Given the description of an element on the screen output the (x, y) to click on. 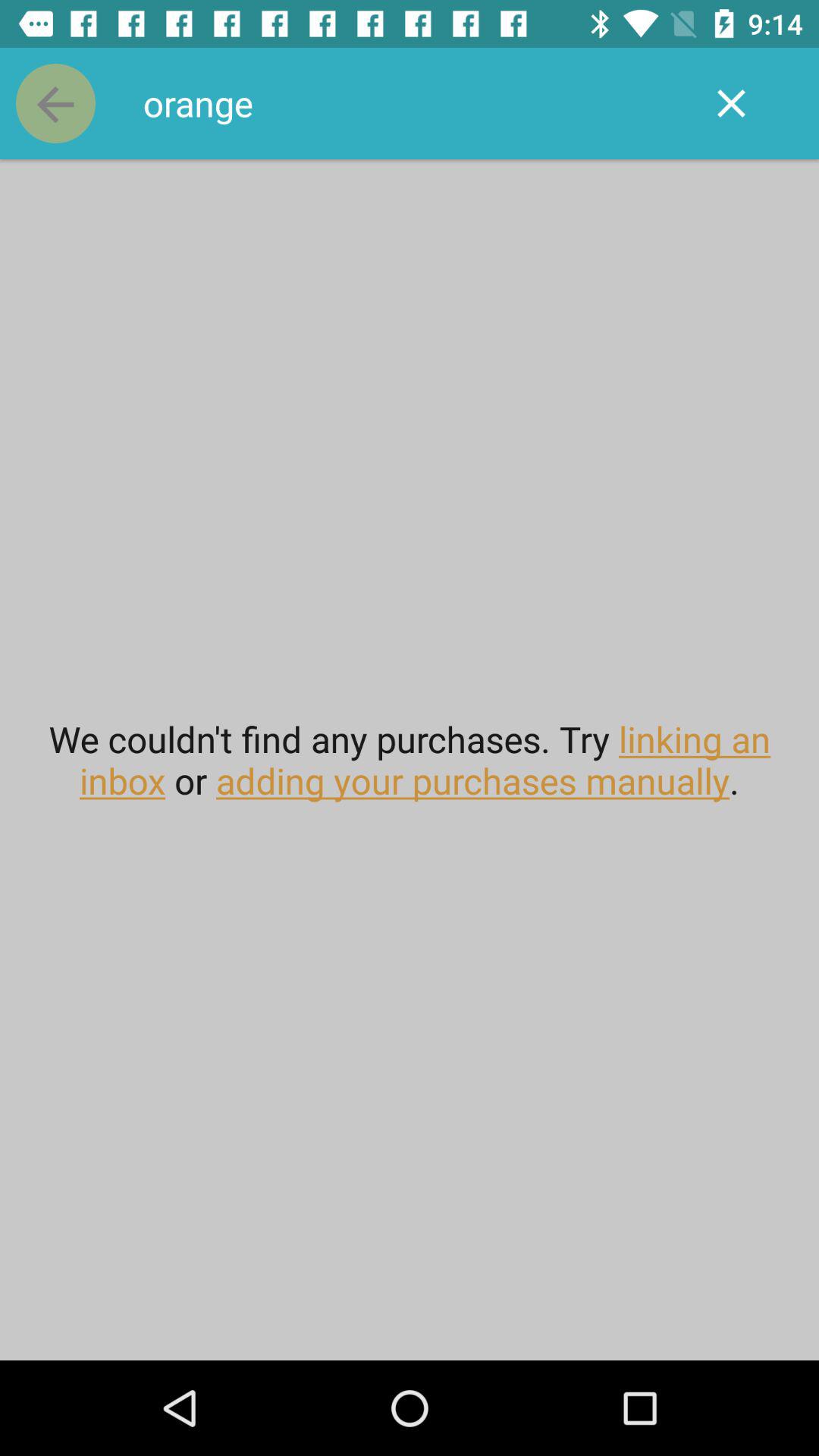
click icon to the right of orange (731, 103)
